Given the description of an element on the screen output the (x, y) to click on. 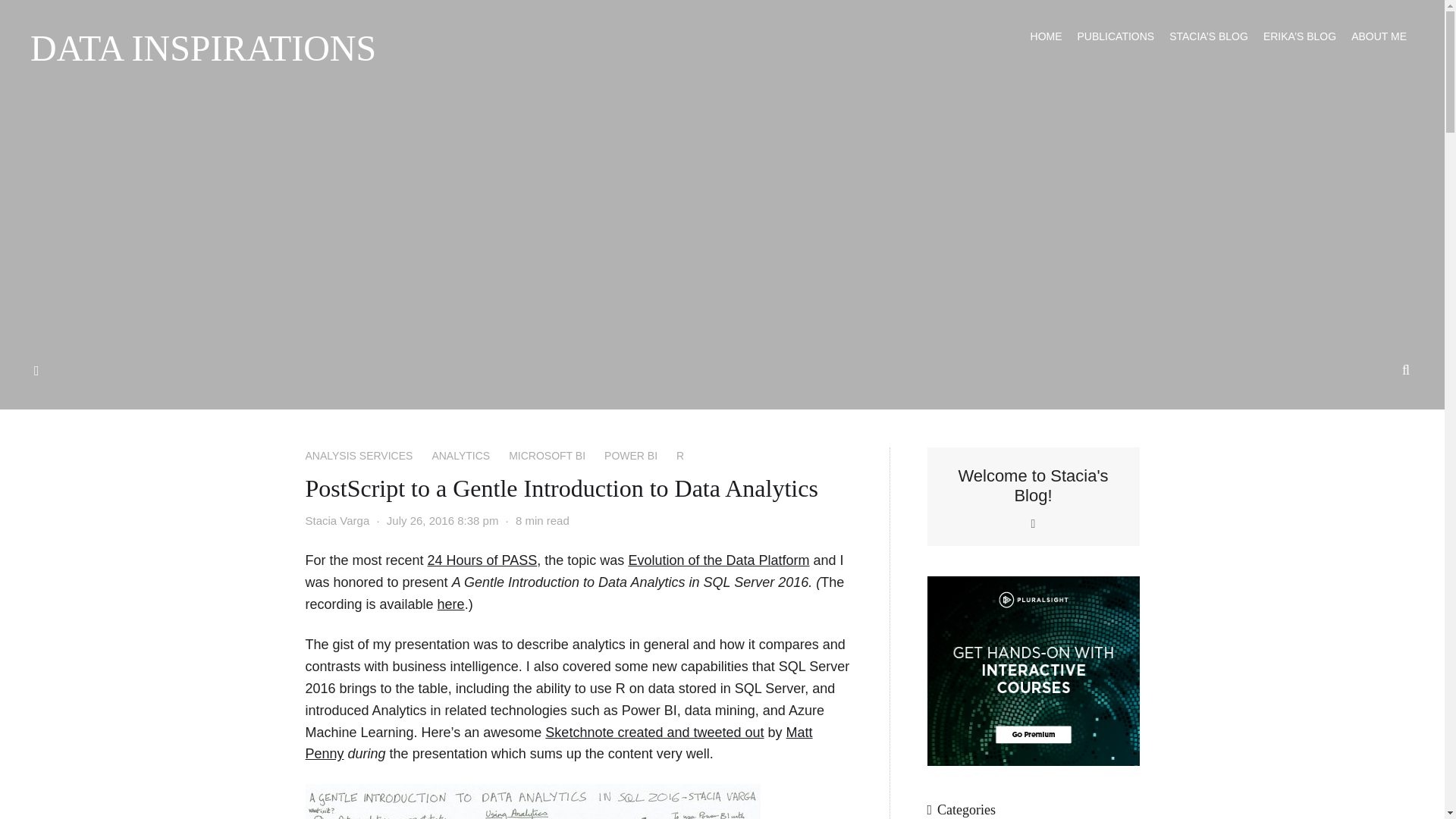
Matt Penny (558, 743)
Posts by Stacia Varga (336, 520)
here (451, 604)
Sketchnote created and tweeted out (653, 732)
Evolution of the Data Platform (718, 560)
DATA INSPIRATIONS (202, 48)
Stacia Varga (336, 520)
July 26, 2016 8:38 pm (443, 520)
ANALYSIS SERVICES (358, 455)
ANALYTICS (459, 455)
